Given the description of an element on the screen output the (x, y) to click on. 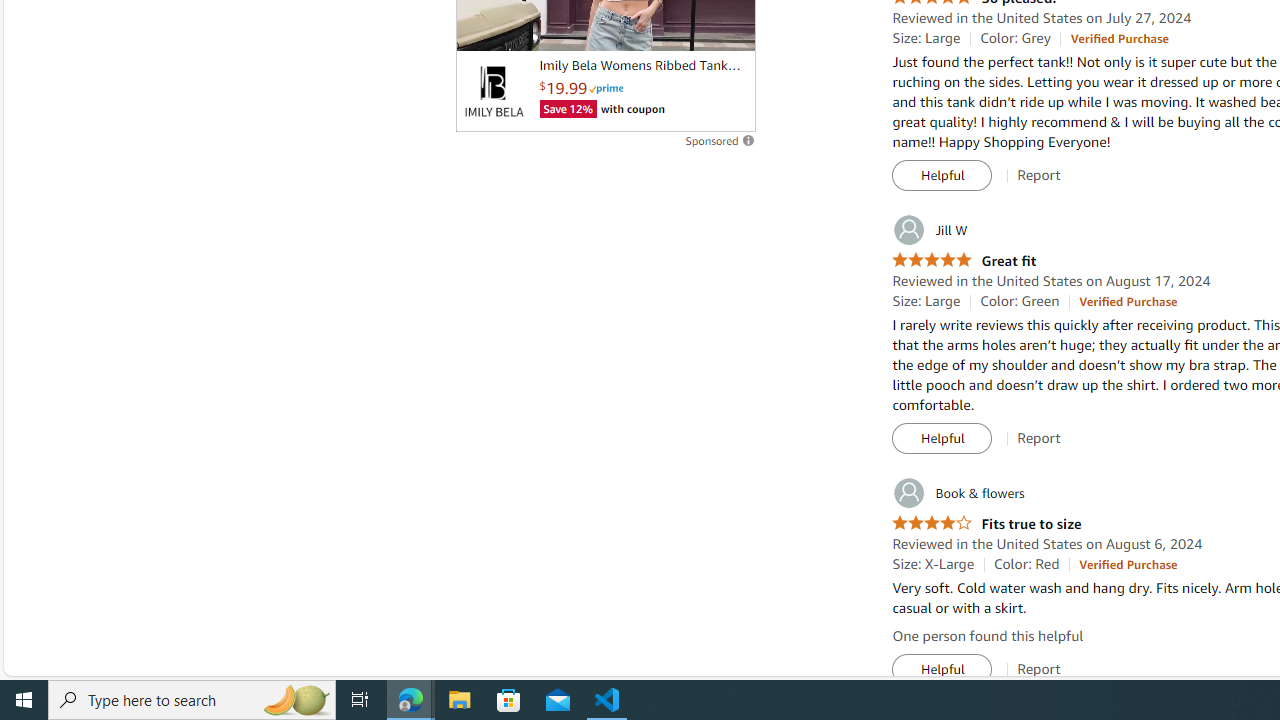
4.0 out of 5 stars Fits true to size (986, 524)
Verified Purchase (1128, 564)
Report (1039, 669)
Jill W (929, 230)
Prime (605, 88)
Unmute (729, 27)
Helpful (942, 669)
Book & flowers (958, 493)
Pause (481, 27)
Logo (493, 91)
5.0 out of 5 stars Great fit (964, 260)
